Given the description of an element on the screen output the (x, y) to click on. 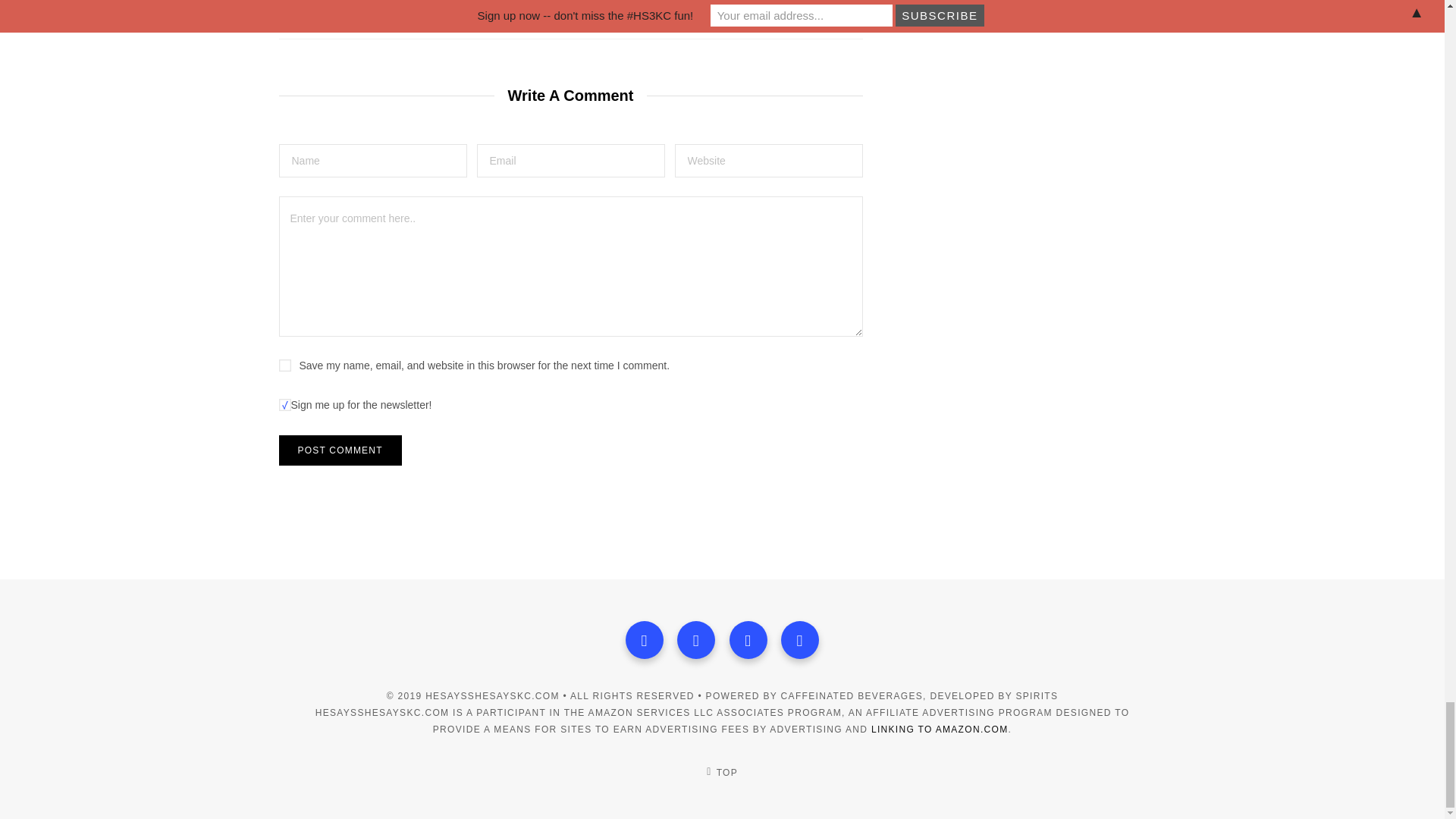
1 (285, 404)
yes (285, 365)
Post Comment (340, 450)
